Given the description of an element on the screen output the (x, y) to click on. 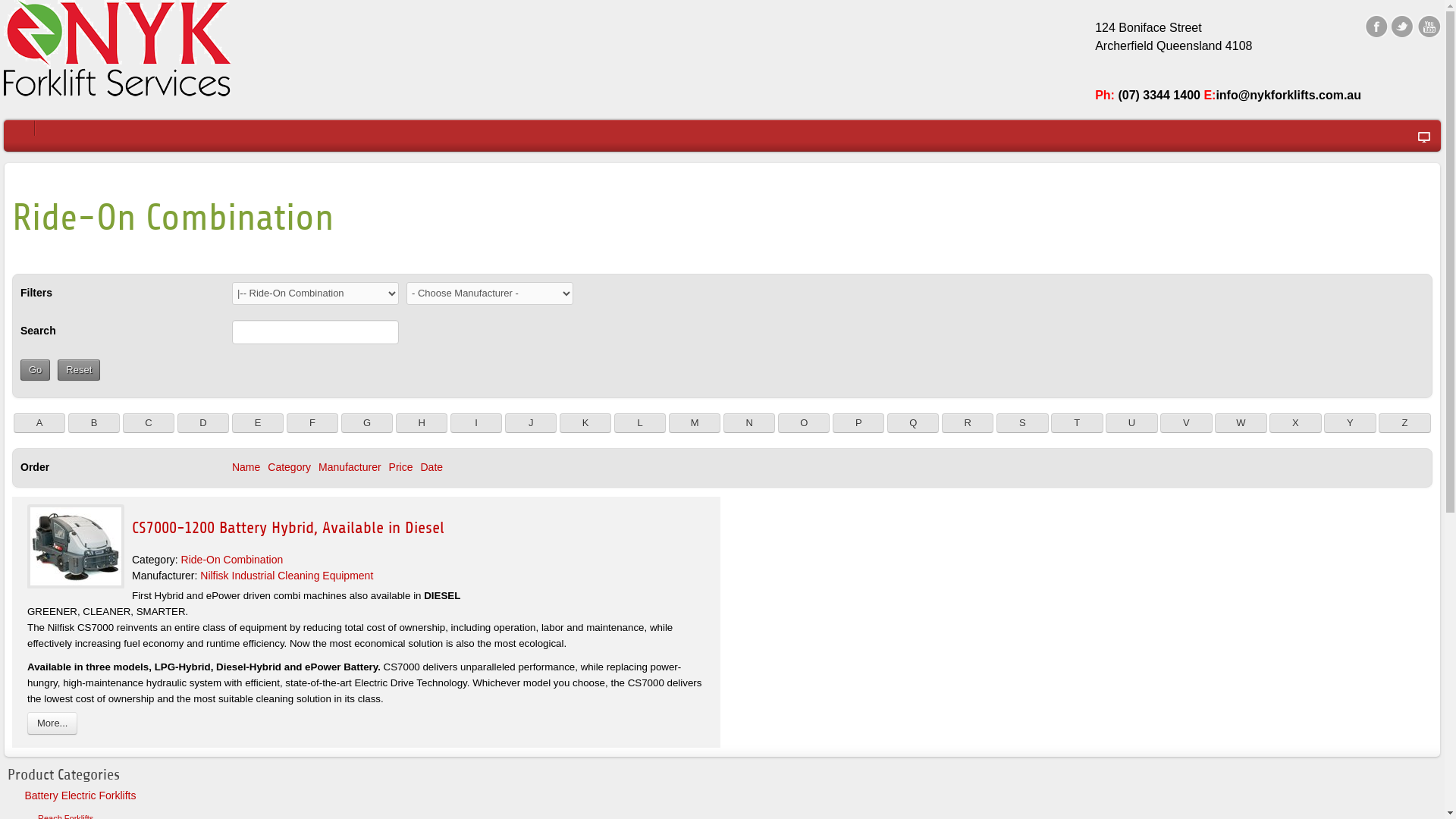
M Element type: text (694, 423)
E Element type: text (257, 423)
H Element type: text (421, 423)
I Element type: text (476, 423)
Ride-On Combination Element type: text (232, 559)
CS7000-1200 Battery Hybrid, Available in Diesel Element type: text (287, 527)
C Element type: text (148, 423)
L Element type: text (639, 423)
D Element type: text (203, 423)
Z Element type: text (1404, 423)
Reset Element type: text (78, 369)
More... Element type: text (52, 723)
Date Element type: text (431, 467)
N Element type: text (749, 423)
U Element type: text (1131, 423)
X Element type: text (1295, 423)
A Element type: text (39, 423)
F Element type: text (312, 423)
YouTube Element type: text (1429, 25)
J Element type: text (530, 423)
R Element type: text (967, 423)
Name Element type: text (246, 467)
Twitter Element type: text (1402, 25)
Facebook Element type: text (1376, 25)
P Element type: text (858, 423)
Price Element type: text (401, 467)
Category Element type: text (288, 467)
O Element type: text (803, 423)
W Element type: text (1240, 423)
Phone Us Now (07) 3344 1400 Element type: hover (117, 48)
Q Element type: text (912, 423)
Manufacturer Element type: text (349, 467)
Nilfisk Industrial Cleaning Equipment Element type: text (286, 575)
Battery Electric Forklifts Element type: text (730, 795)
B Element type: text (93, 423)
G Element type: text (366, 423)
K Element type: text (585, 423)
V Element type: text (1185, 423)
Y Element type: text (1349, 423)
S Element type: text (1022, 423)
Go Element type: text (35, 369)
T Element type: text (1076, 423)
